Given the description of an element on the screen output the (x, y) to click on. 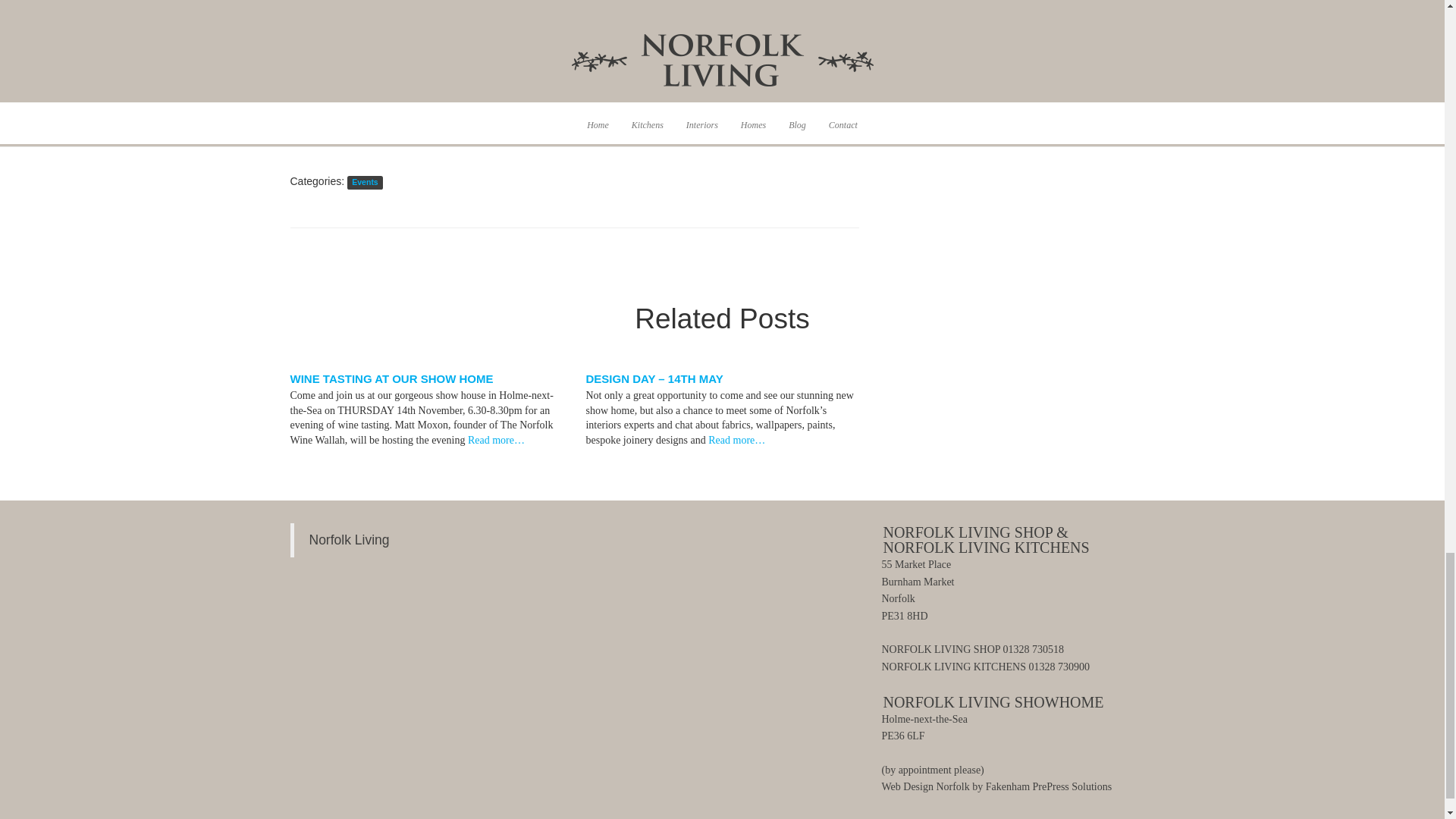
NORFOLK LIVING SHOP 01328 730518 (972, 649)
Click to share on Facebook (331, 115)
Norfolk Living (349, 539)
WINE TASTING AT OUR SHOW HOME (391, 378)
WINE TASTING AT OUR SHOW HOME (391, 378)
Click to share on Twitter (301, 115)
Events (364, 181)
